Given the description of an element on the screen output the (x, y) to click on. 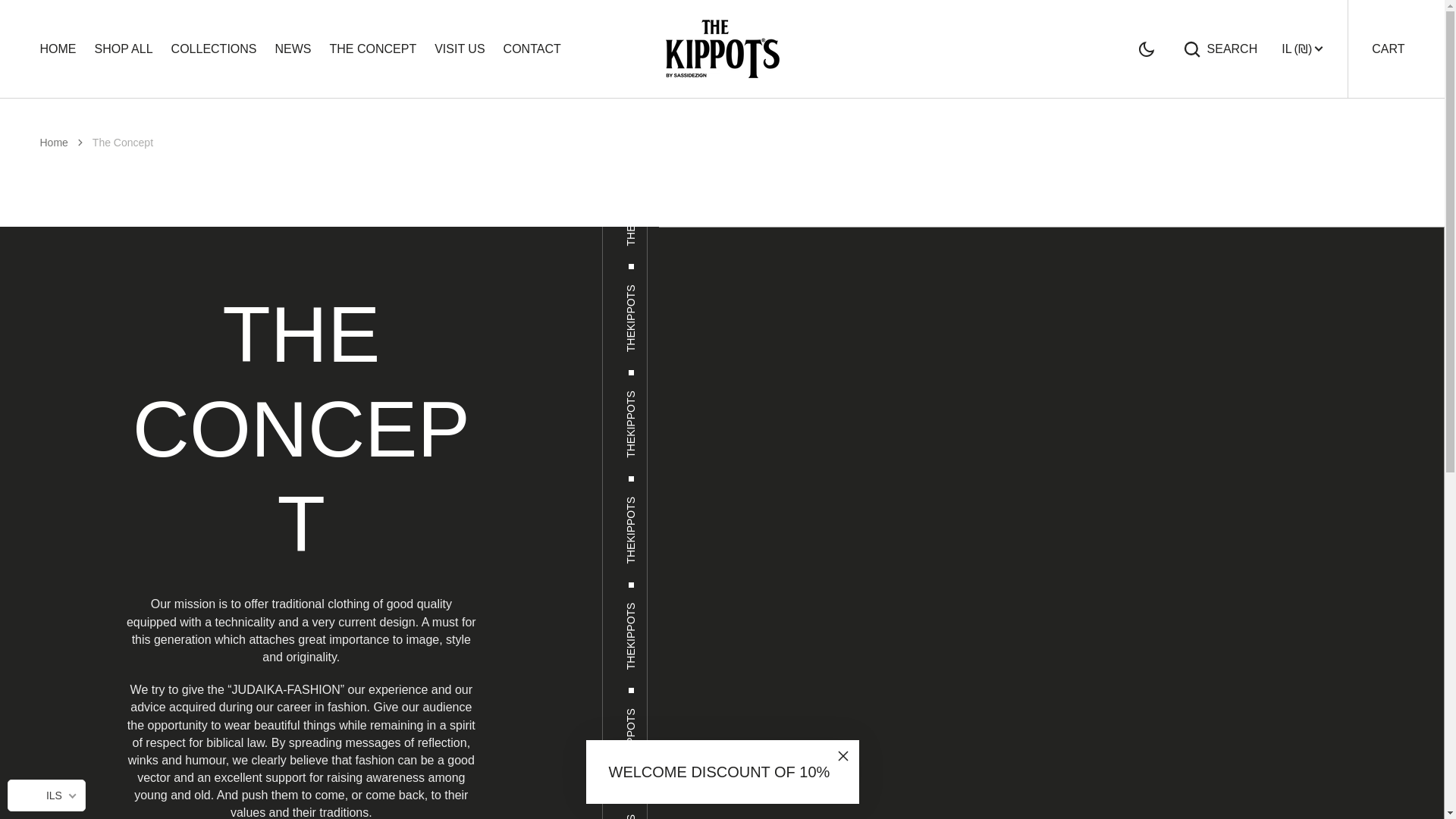
SKIP TO CONTENT (21, 22)
CONTACT (532, 48)
COLLECTIONS (213, 48)
Home (52, 142)
Home (1388, 48)
HOME (52, 142)
Search (57, 48)
THE CONCEPT (1219, 48)
NEWS (373, 48)
